Given the description of an element on the screen output the (x, y) to click on. 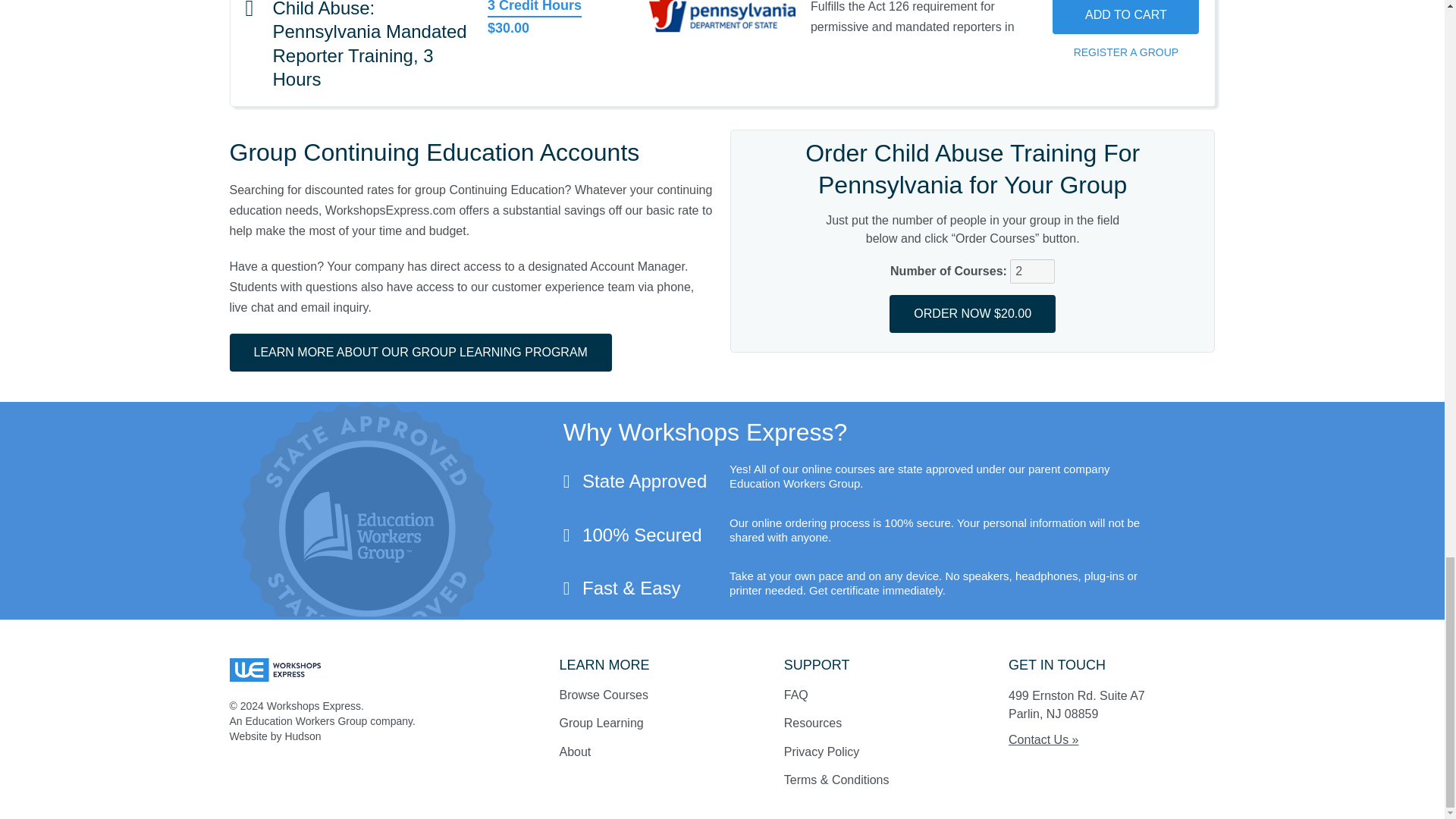
Privacy Policy (822, 751)
LEARN MORE ABOUT OUR GROUP LEARNING PROGRAM (419, 352)
ADD TO CART (1125, 17)
About (575, 751)
REGISTER A GROUP (1125, 51)
Browse Courses (603, 694)
Browse Courses (603, 694)
FAQ (796, 694)
Group Learning (601, 722)
Hudson (301, 736)
